Given the description of an element on the screen output the (x, y) to click on. 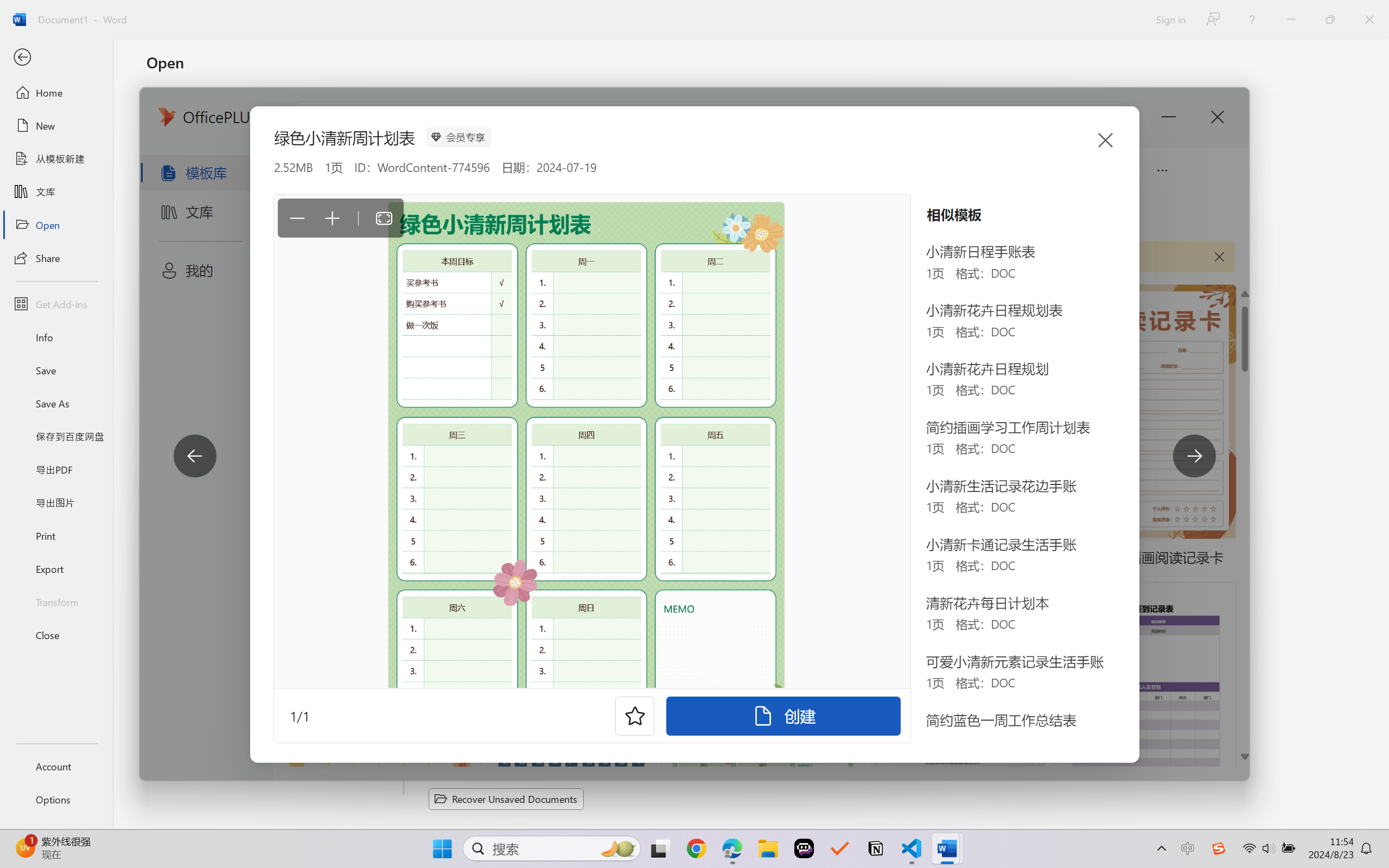
Export (56, 568)
Options (56, 798)
Print (56, 535)
